Given the description of an element on the screen output the (x, y) to click on. 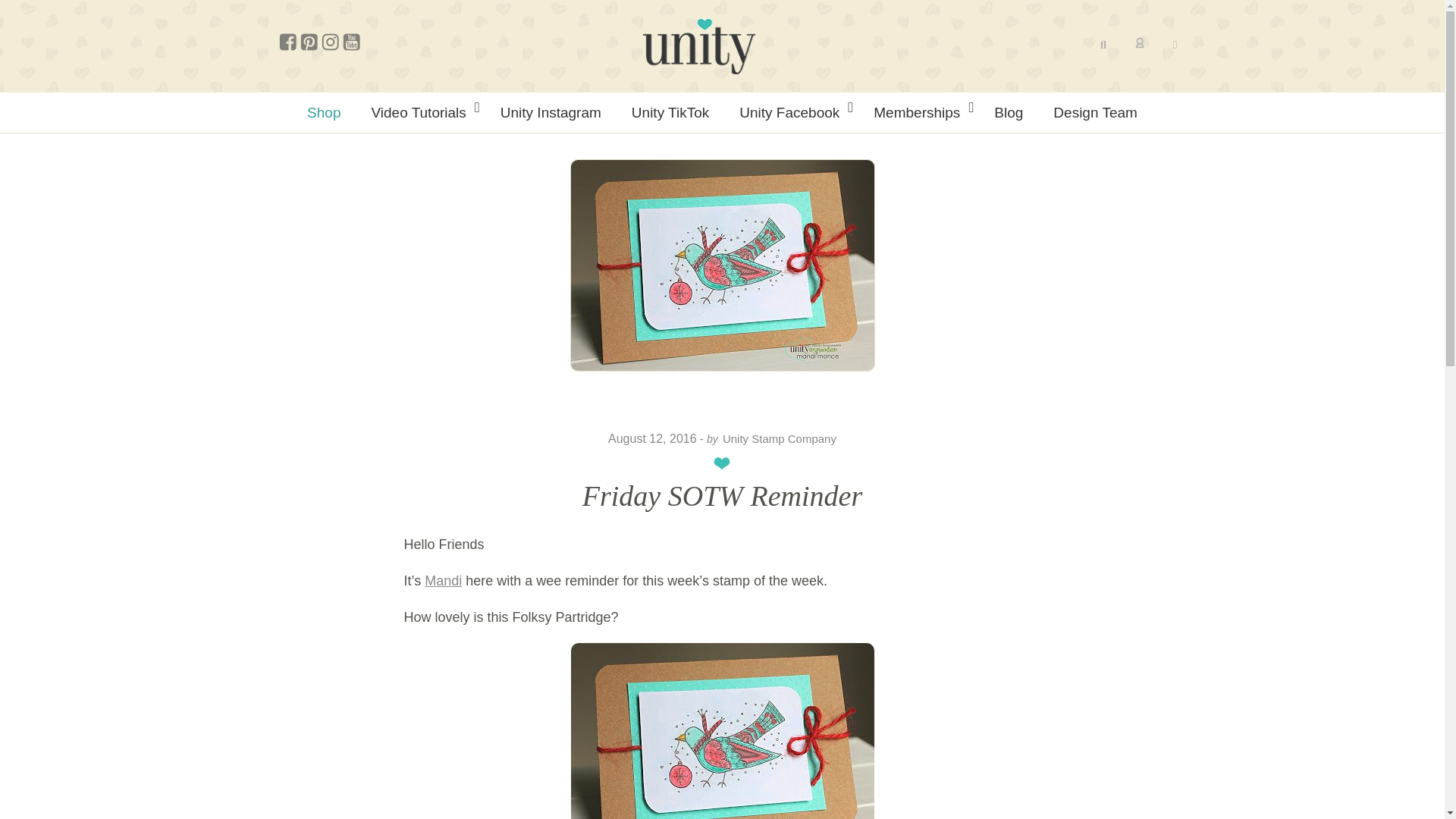
Video Tutorials (419, 112)
Shop (323, 112)
account (1139, 43)
Unity Facebook (791, 112)
Mandi (443, 580)
Unity Instagram (549, 112)
Memberships (918, 112)
account (1139, 42)
Blog (1008, 112)
Unity TikTok (669, 112)
Unity Blog (698, 46)
Unity Stamp Company (778, 438)
Design Team (1095, 112)
UNITY BLOG (698, 46)
